Given the description of an element on the screen output the (x, y) to click on. 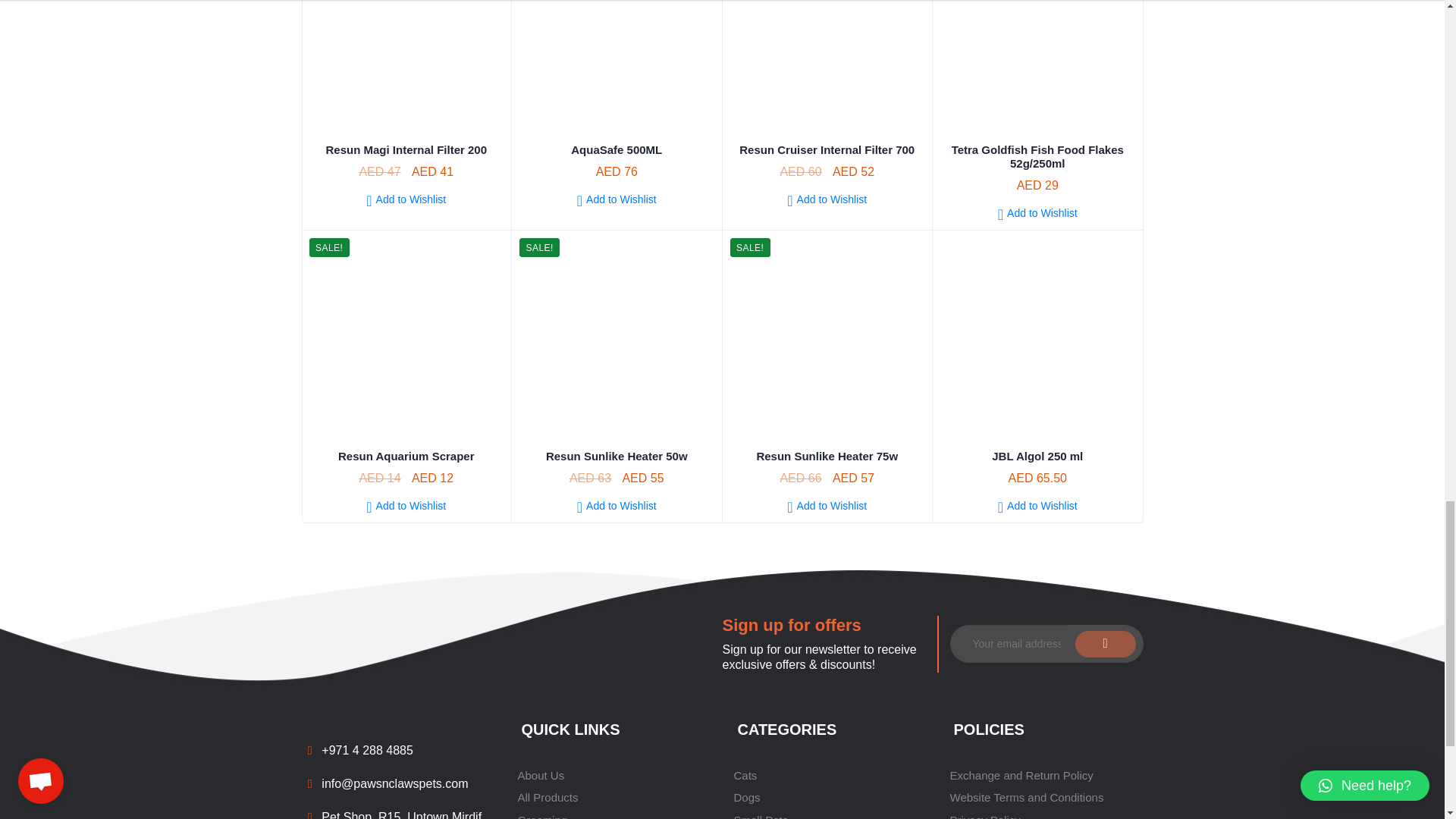
SUBSCRIBE (1105, 643)
